Given the description of an element on the screen output the (x, y) to click on. 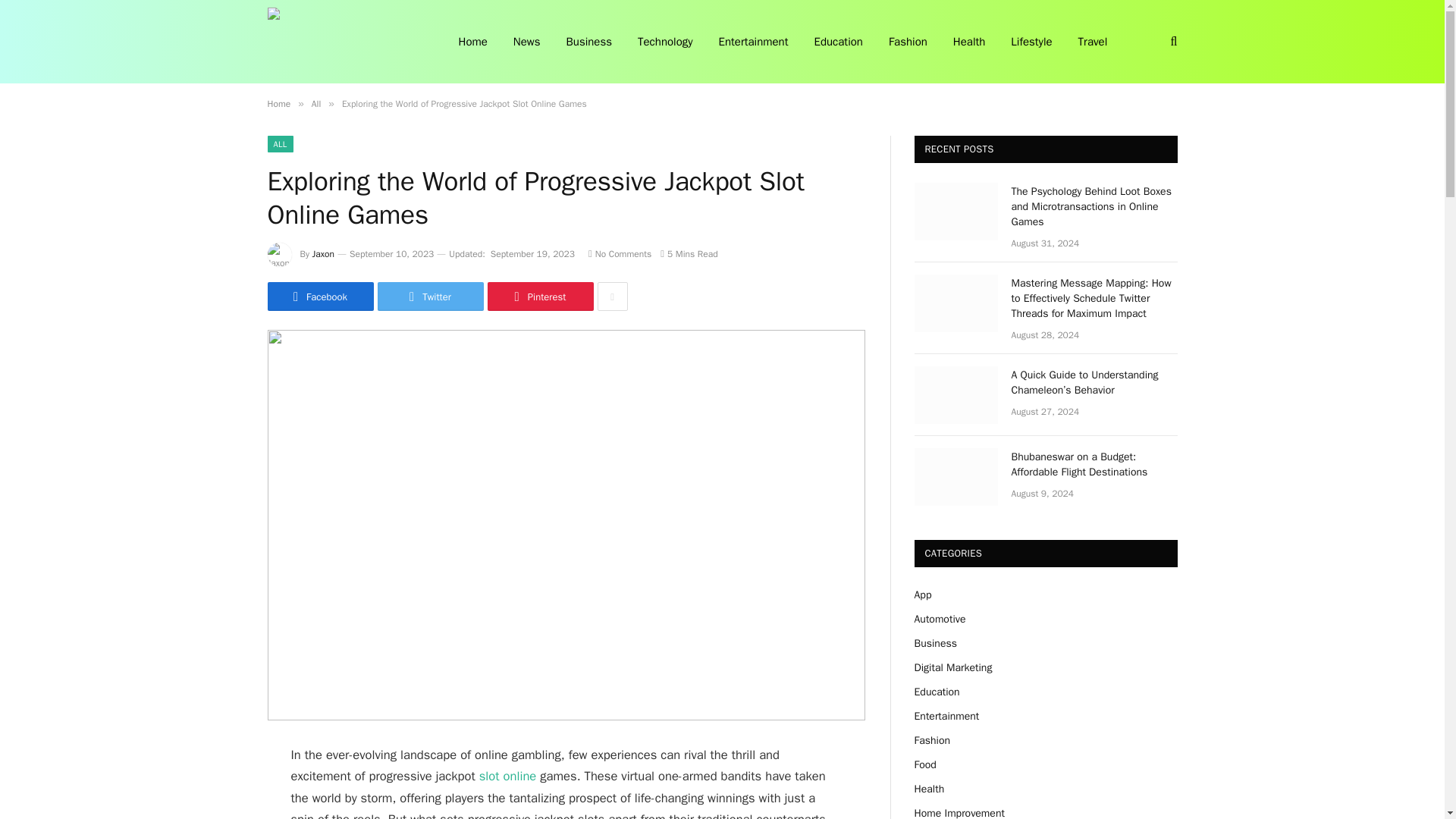
Share on Facebook (319, 296)
Pinterest (539, 296)
Technology (665, 41)
Share on Pinterest (539, 296)
Facebook (319, 296)
Share on Twitter (430, 296)
Home (277, 103)
Jaxon (323, 254)
slot online (506, 775)
Masstamilan (342, 41)
